Given the description of an element on the screen output the (x, y) to click on. 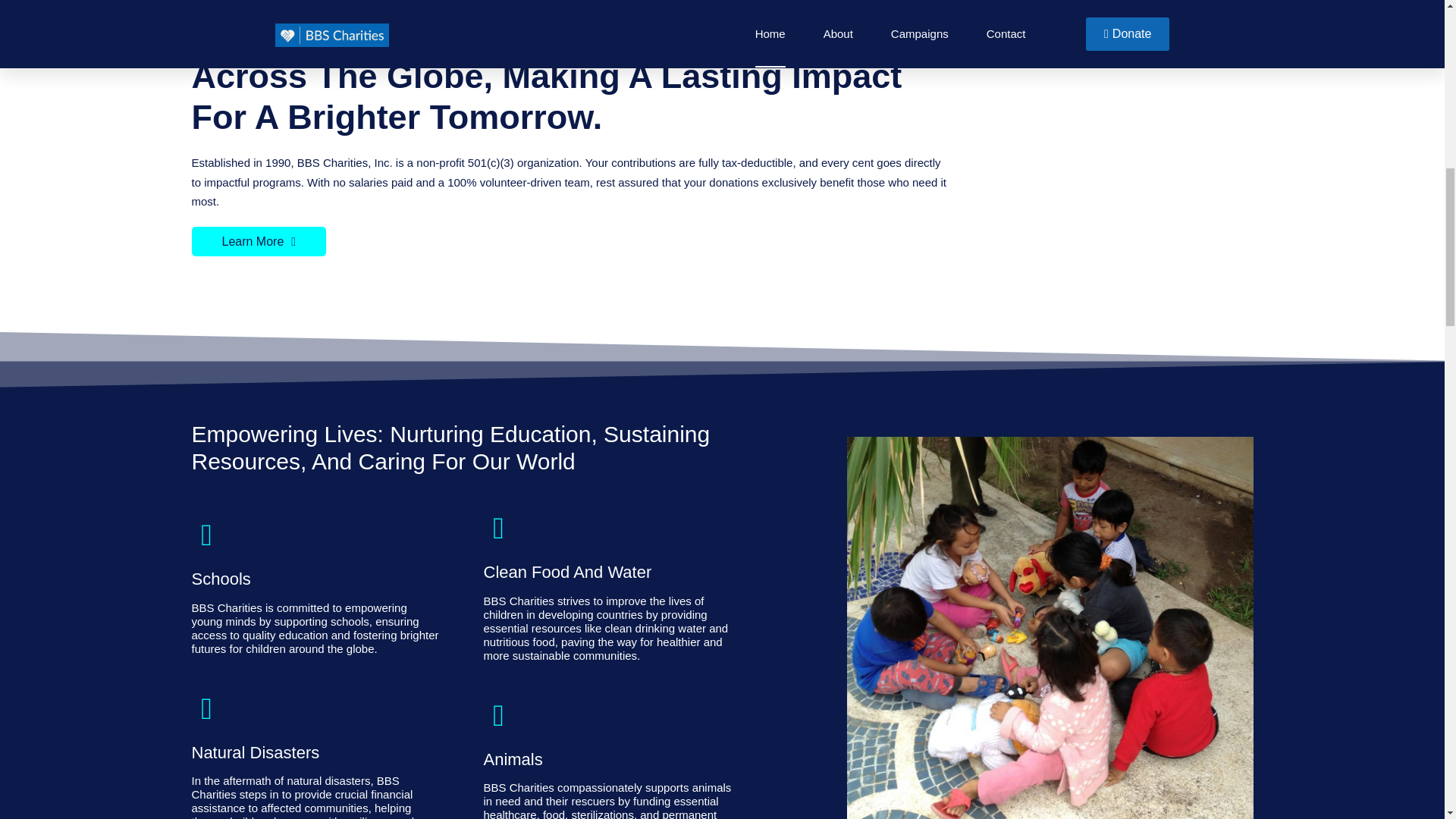
Learn More (258, 240)
